Given the description of an element on the screen output the (x, y) to click on. 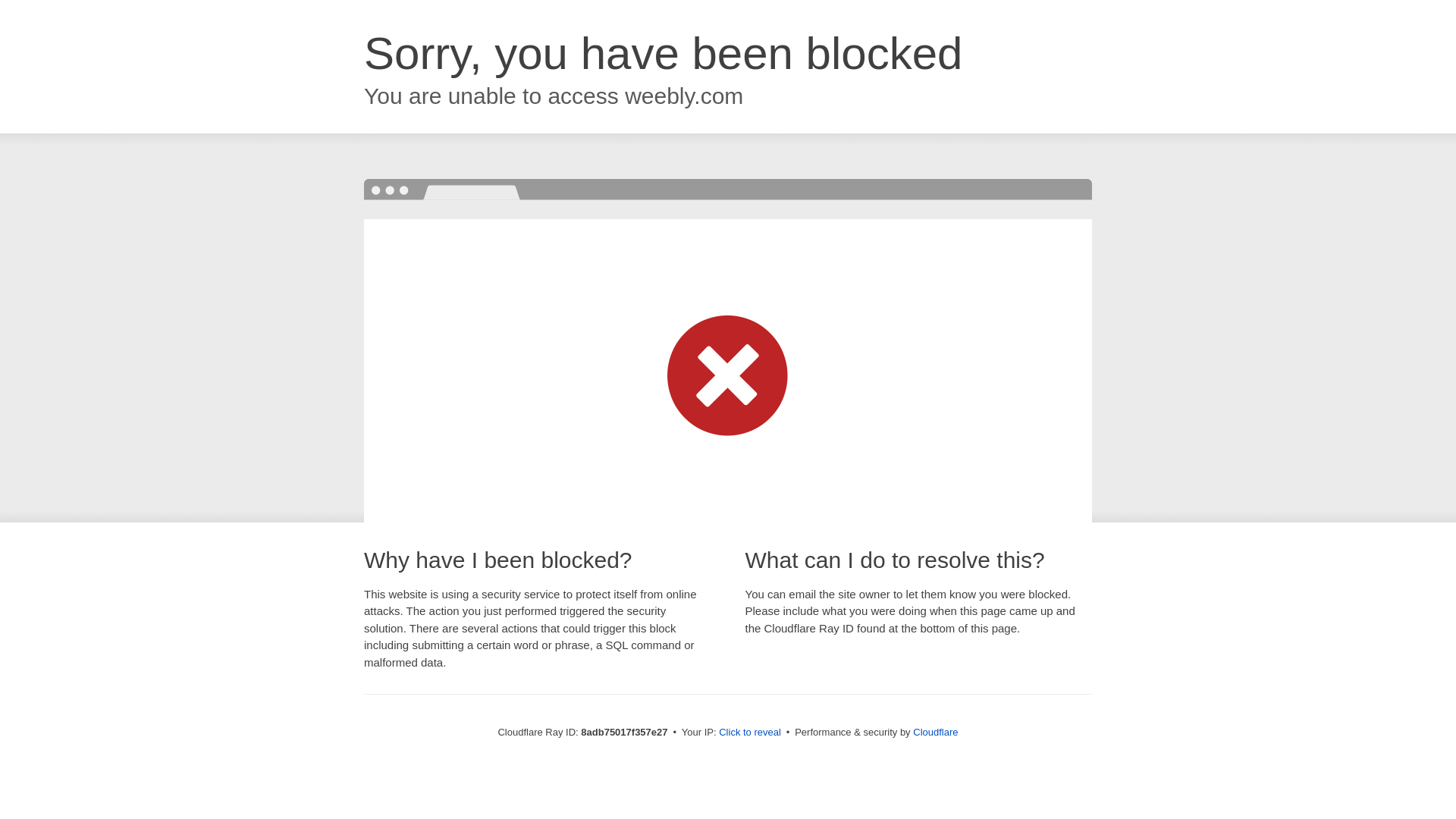
Cloudflare (935, 731)
Click to reveal (749, 732)
